Given the description of an element on the screen output the (x, y) to click on. 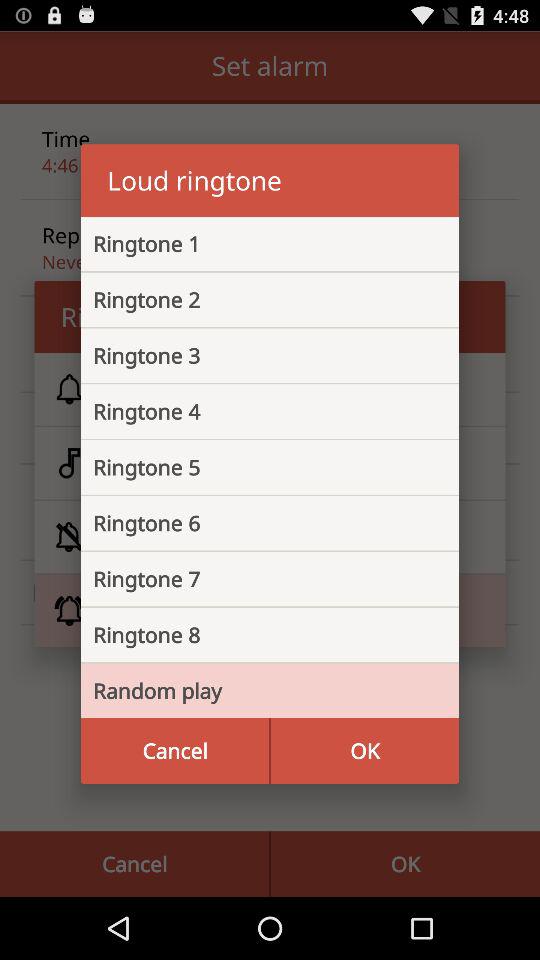
open app below loud ringtone item (254, 243)
